Given the description of an element on the screen output the (x, y) to click on. 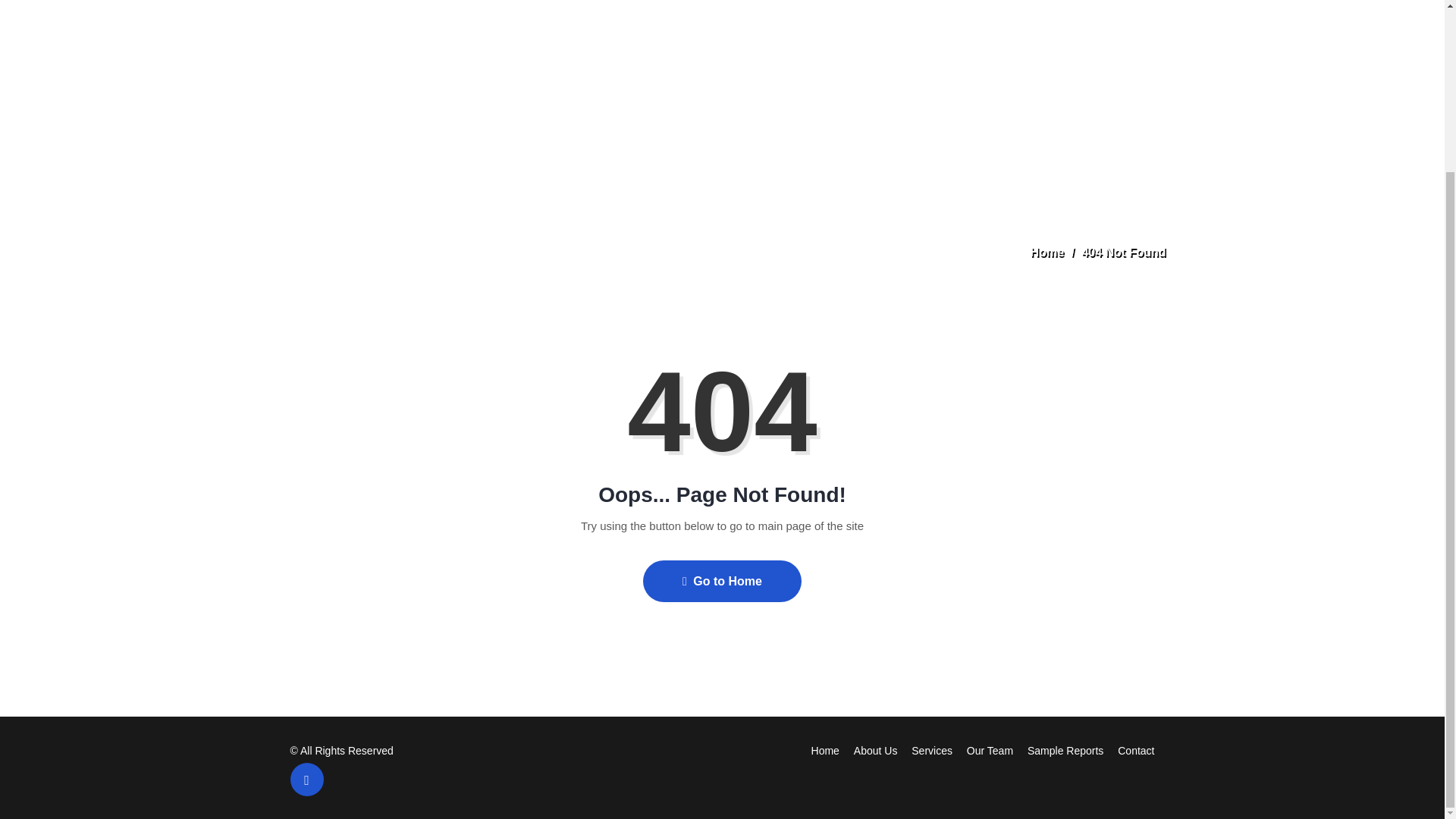
Home (825, 750)
Services (931, 750)
Sample Reports (1065, 750)
Our Team (989, 750)
  Go to Home (722, 580)
Home (1047, 251)
Back to Top (306, 779)
About Us (875, 750)
Contact (1136, 750)
